Given the description of an element on the screen output the (x, y) to click on. 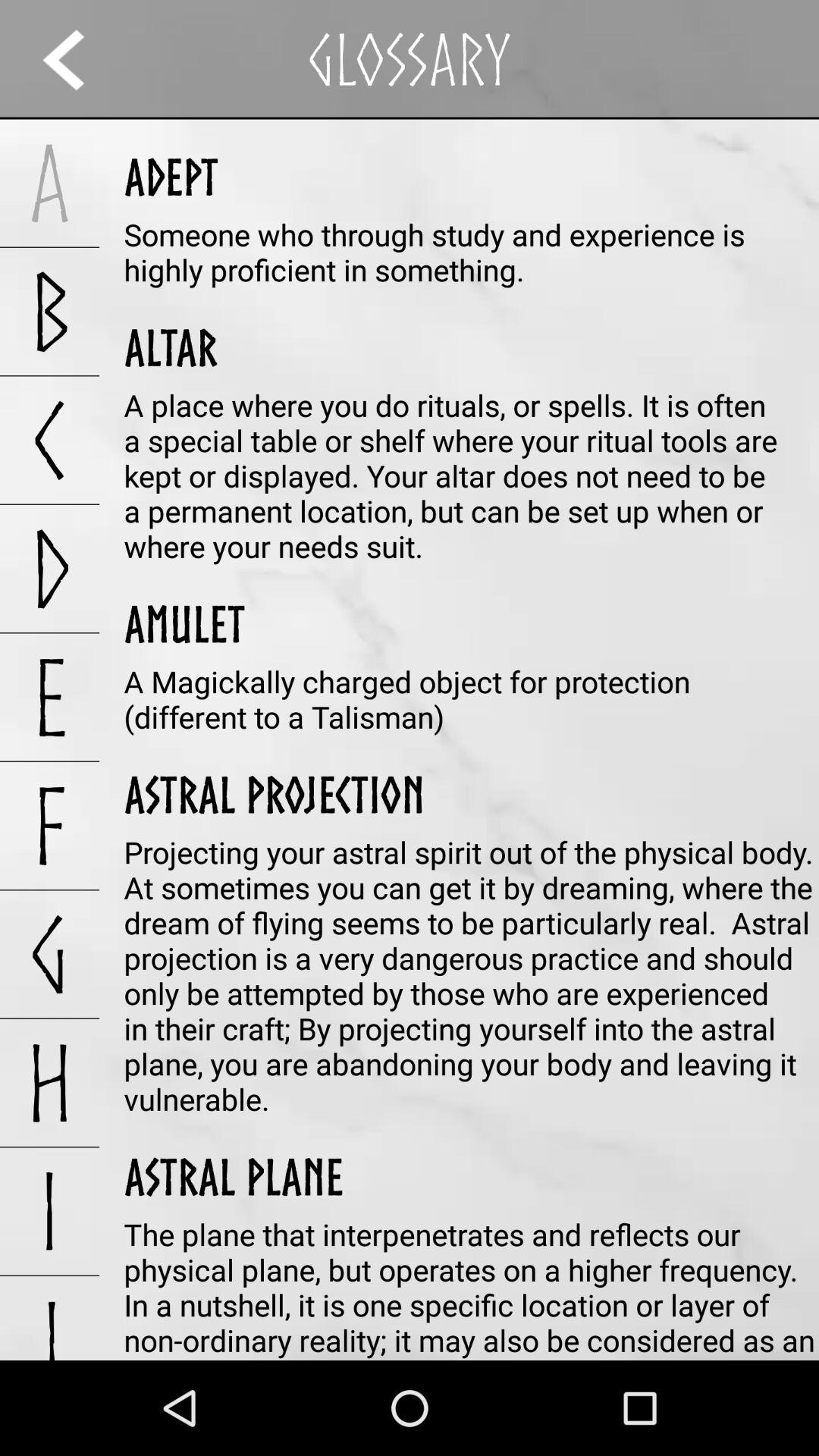
launch icon to the left of amulet item (49, 696)
